Given the description of an element on the screen output the (x, y) to click on. 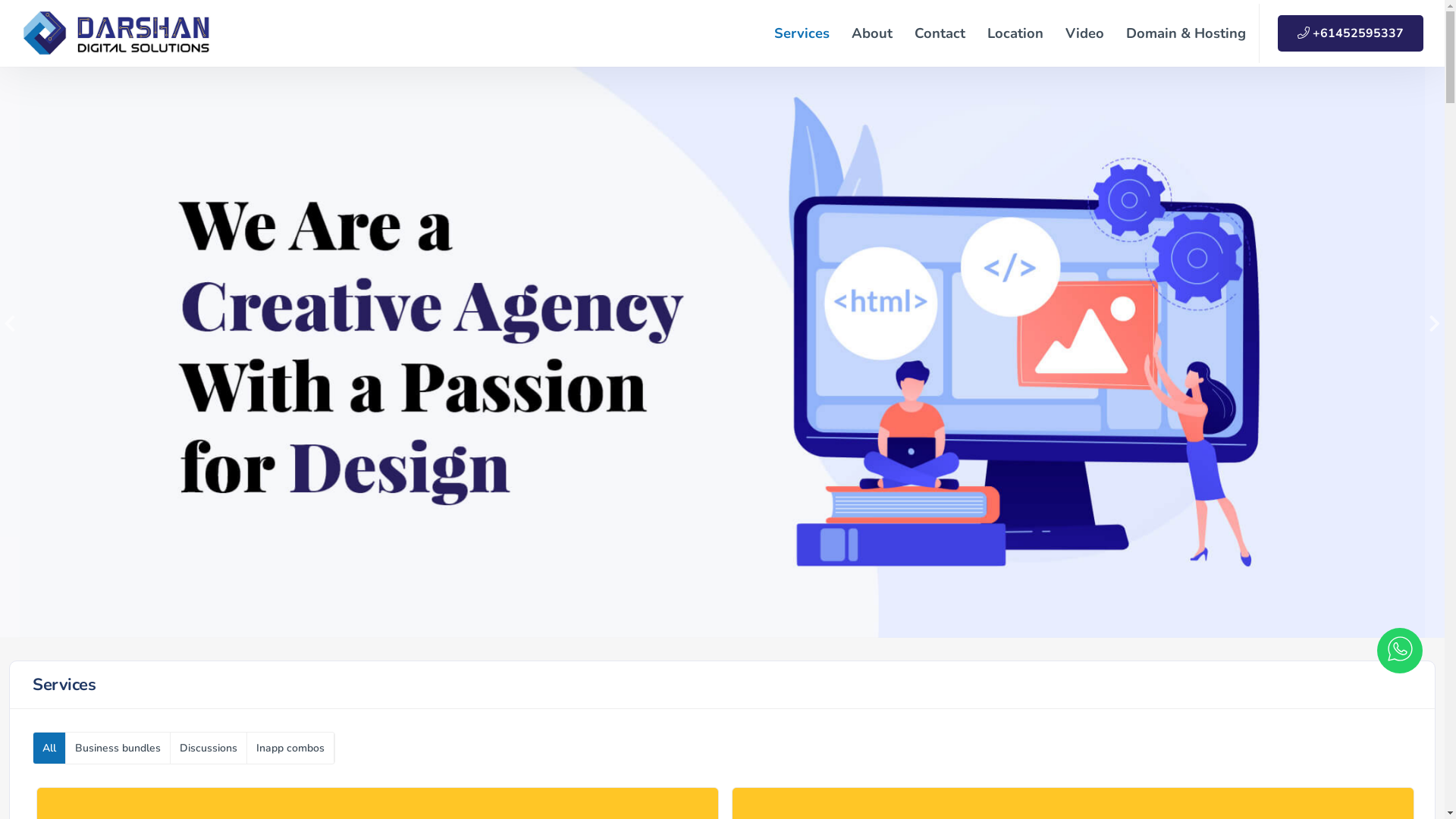
Business bundles Element type: text (117, 747)
All Element type: text (49, 747)
Video Element type: text (1084, 32)
+61452595337 Element type: text (1350, 33)
Location Element type: text (1015, 32)
Services Element type: text (801, 32)
About Element type: text (871, 32)
Domain & Hosting Element type: text (1186, 32)
Discussions Element type: text (208, 747)
Contact Element type: text (939, 32)
Inapp combos Element type: text (290, 747)
